Given the description of an element on the screen output the (x, y) to click on. 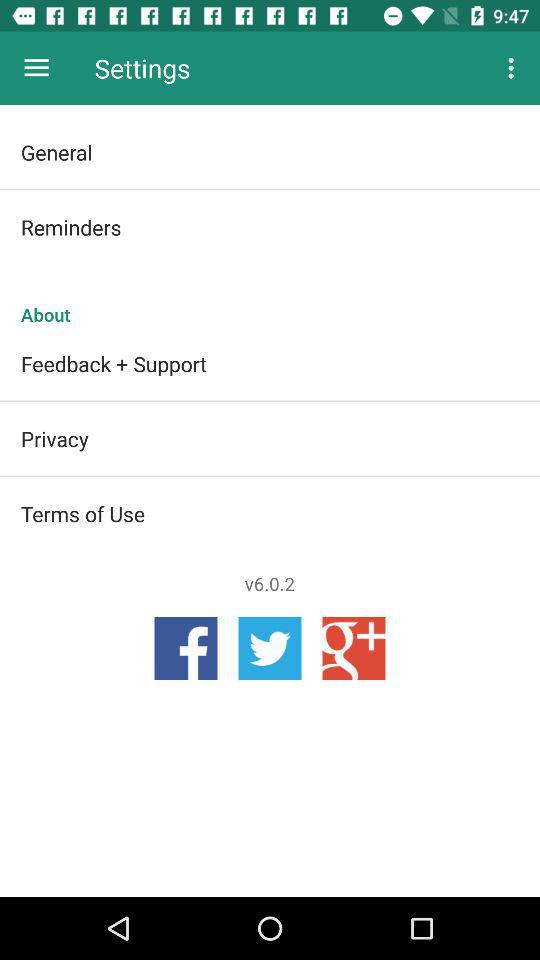
tap the item at the top right corner (513, 67)
